Given the description of an element on the screen output the (x, y) to click on. 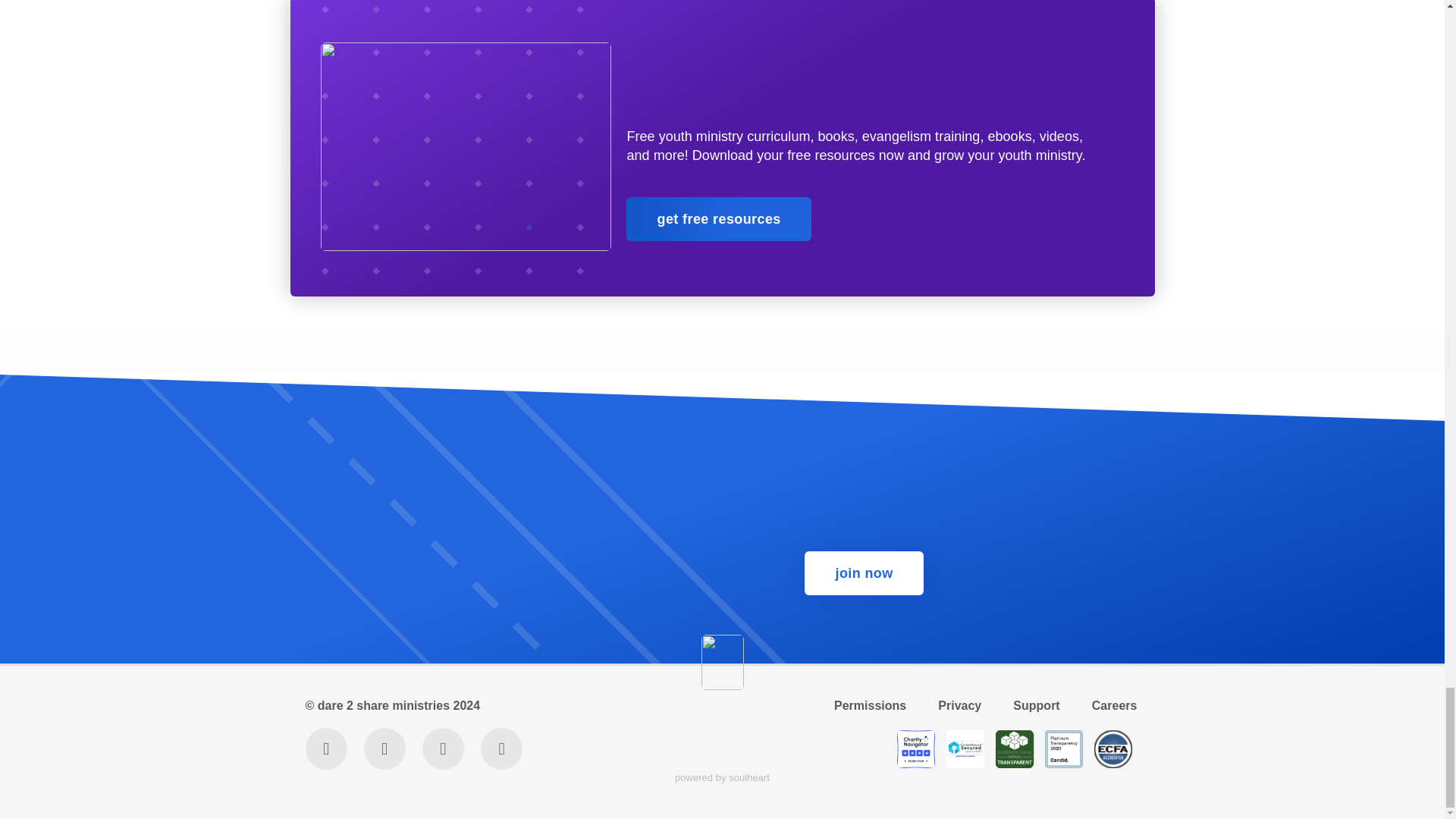
Careers (1113, 705)
Permissions (870, 705)
join now (864, 573)
get free resources (718, 218)
Youtube (501, 748)
Support (1036, 705)
Instagram (385, 748)
Twitter (325, 748)
Facebook-f (443, 748)
Privacy (960, 705)
